Given the description of an element on the screen output the (x, y) to click on. 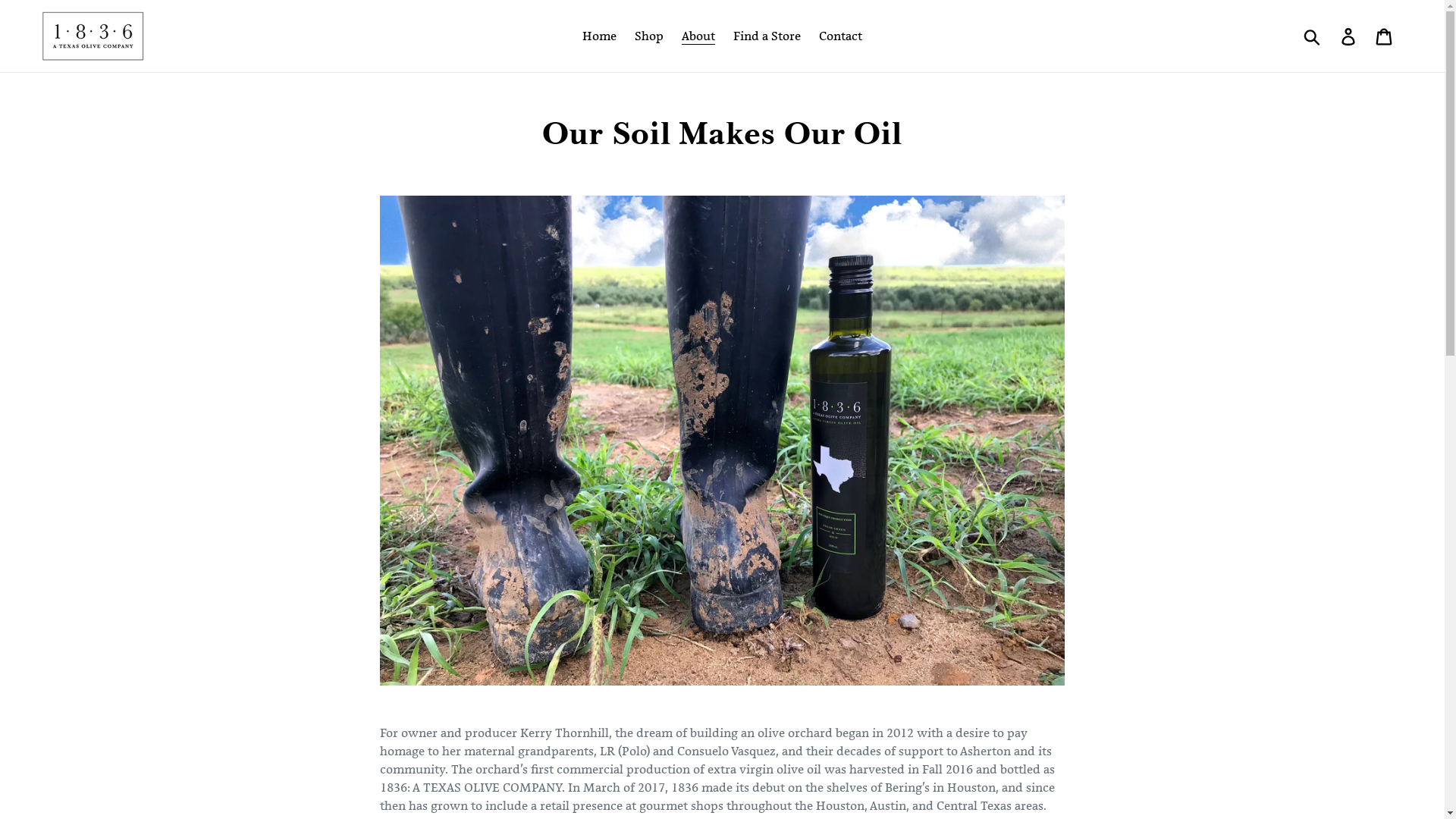
Shop Element type: text (649, 36)
About Element type: text (698, 36)
Cart Element type: text (1384, 35)
Log in Element type: text (1349, 35)
Find a Store Element type: text (766, 36)
Home Element type: text (599, 36)
Submit Element type: text (1312, 36)
Contact Element type: text (840, 36)
